Given the description of an element on the screen output the (x, y) to click on. 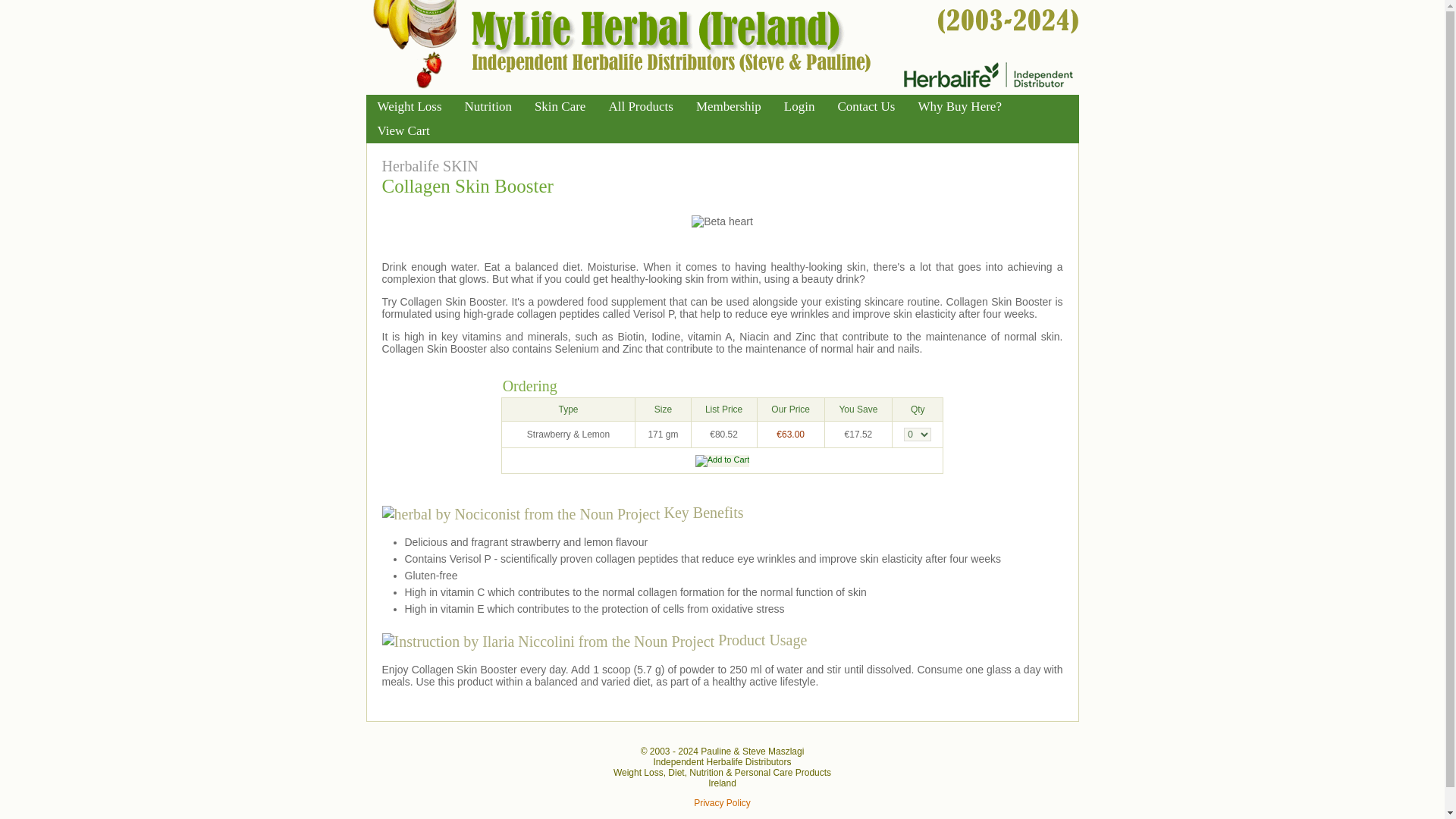
Privacy Policy (722, 802)
View Cart (403, 130)
Contact Us (865, 106)
All Products (640, 106)
Skin Care (559, 106)
Membership (728, 106)
Add to Cart (722, 460)
Weight Loss (408, 106)
Nutrition (487, 106)
Login (800, 106)
Why Buy Here? (958, 106)
